Given the description of an element on the screen output the (x, y) to click on. 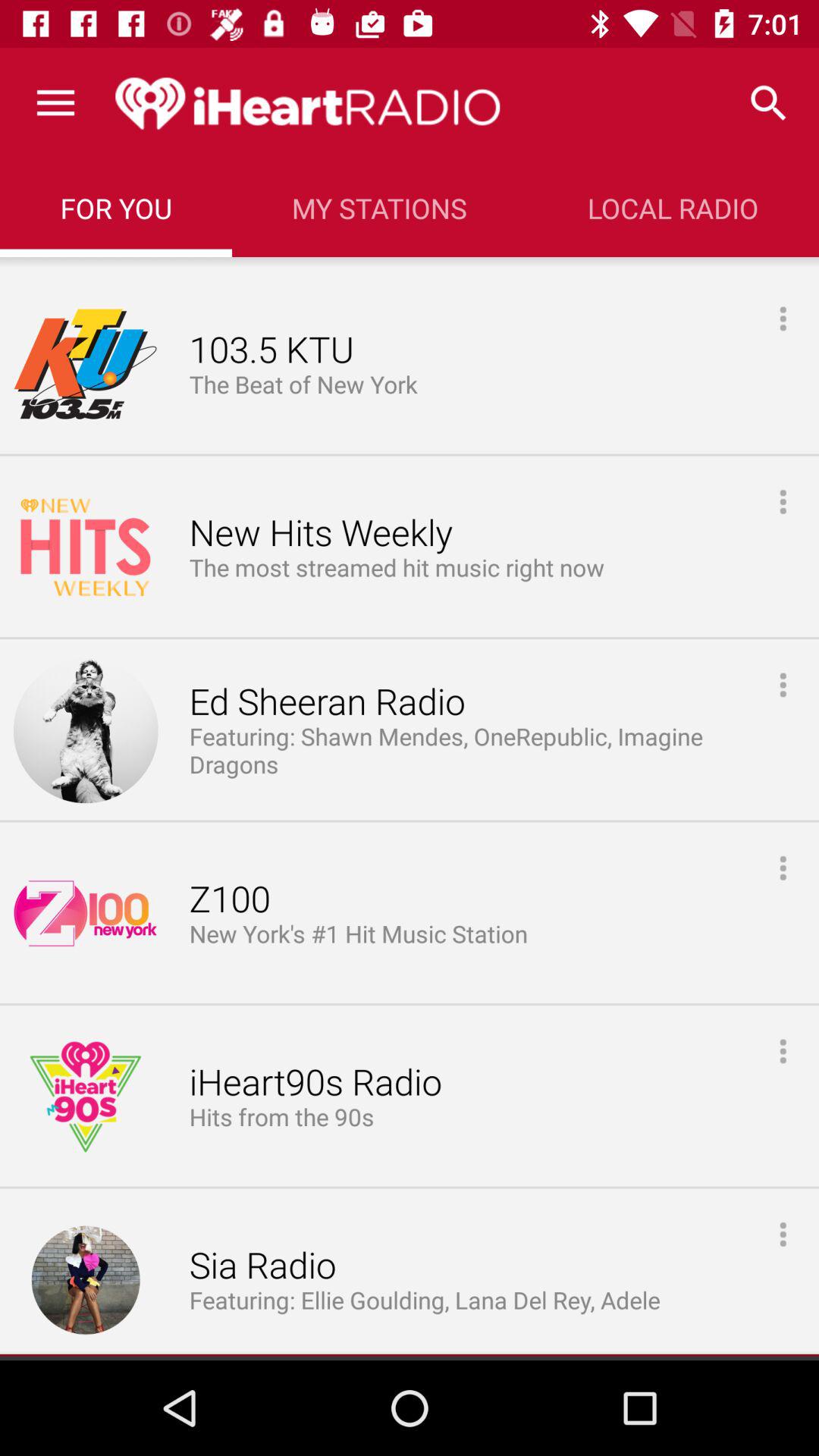
tap item next to local radio (379, 208)
